Given the description of an element on the screen output the (x, y) to click on. 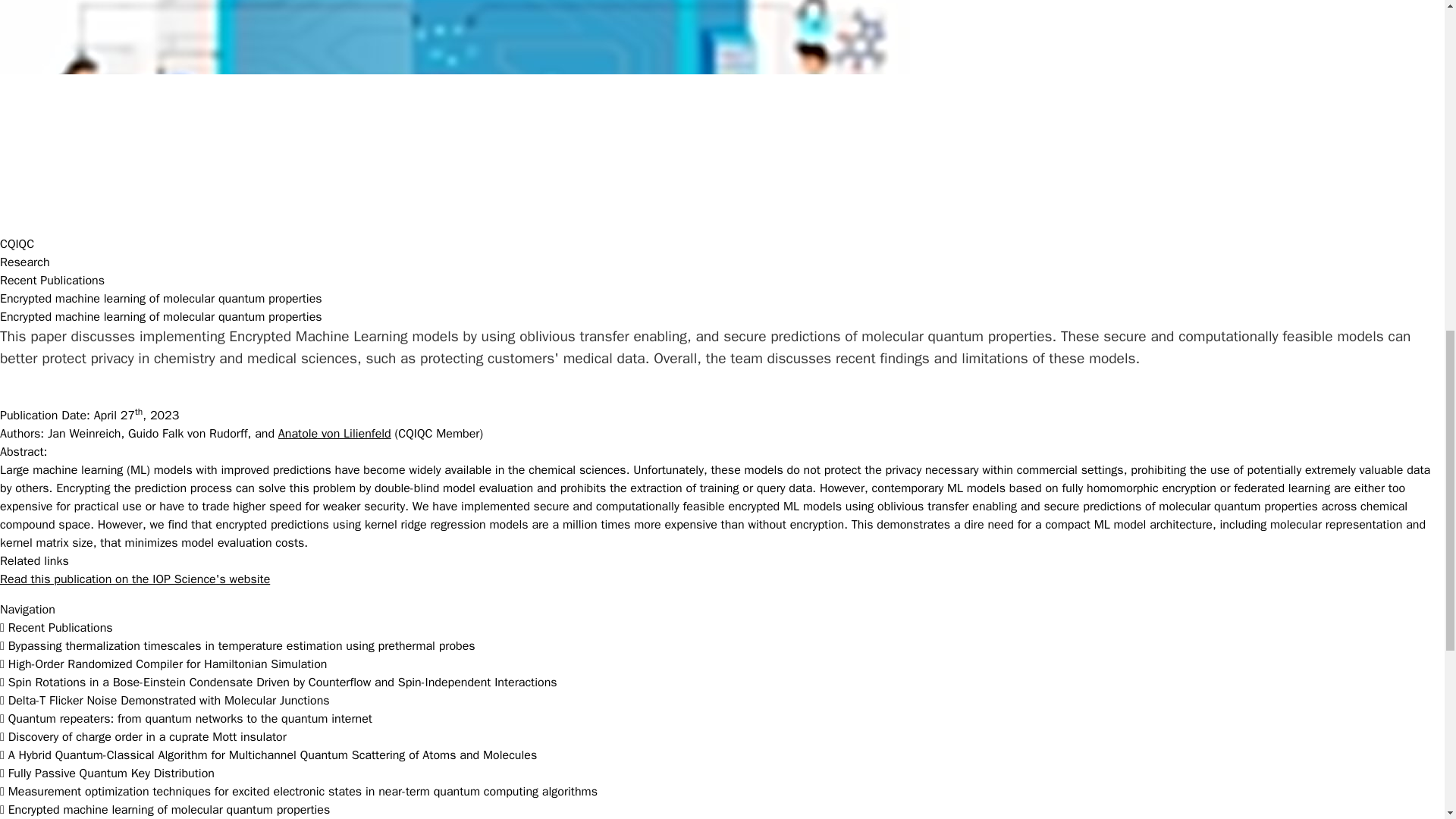
Research (24, 262)
CQIQC (16, 243)
Anatole von Lilienfeld (334, 433)
Recent Publications (52, 280)
